Given the description of an element on the screen output the (x, y) to click on. 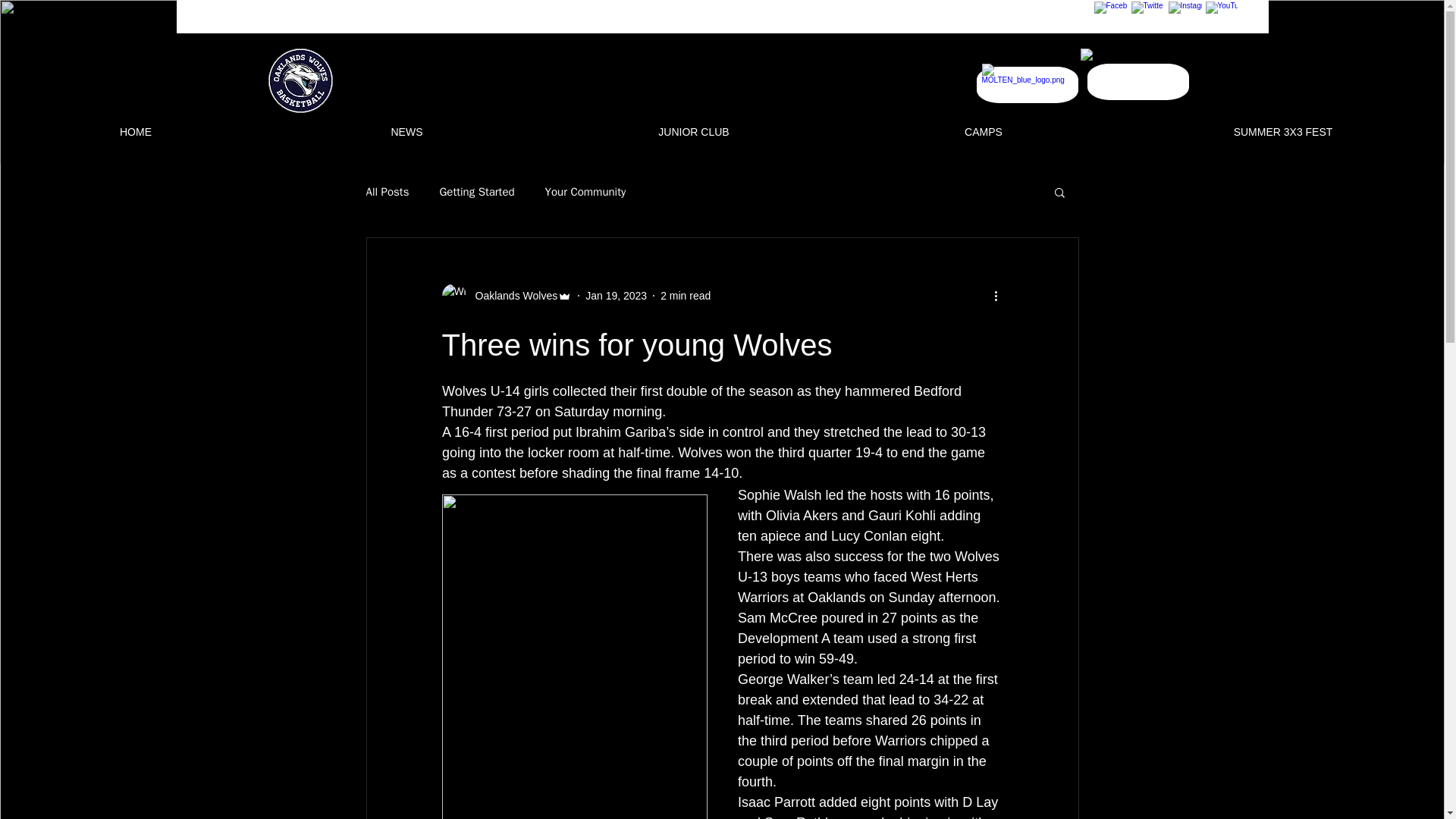
2 min read (685, 295)
All Posts (387, 192)
NEWS (405, 131)
JUNIOR CLUB (693, 131)
Your Community (585, 192)
Getting Started (476, 192)
Oaklands Wolves (511, 295)
Jan 19, 2023 (615, 295)
HOME (135, 131)
Oaklands Wolves (506, 295)
